Given the description of an element on the screen output the (x, y) to click on. 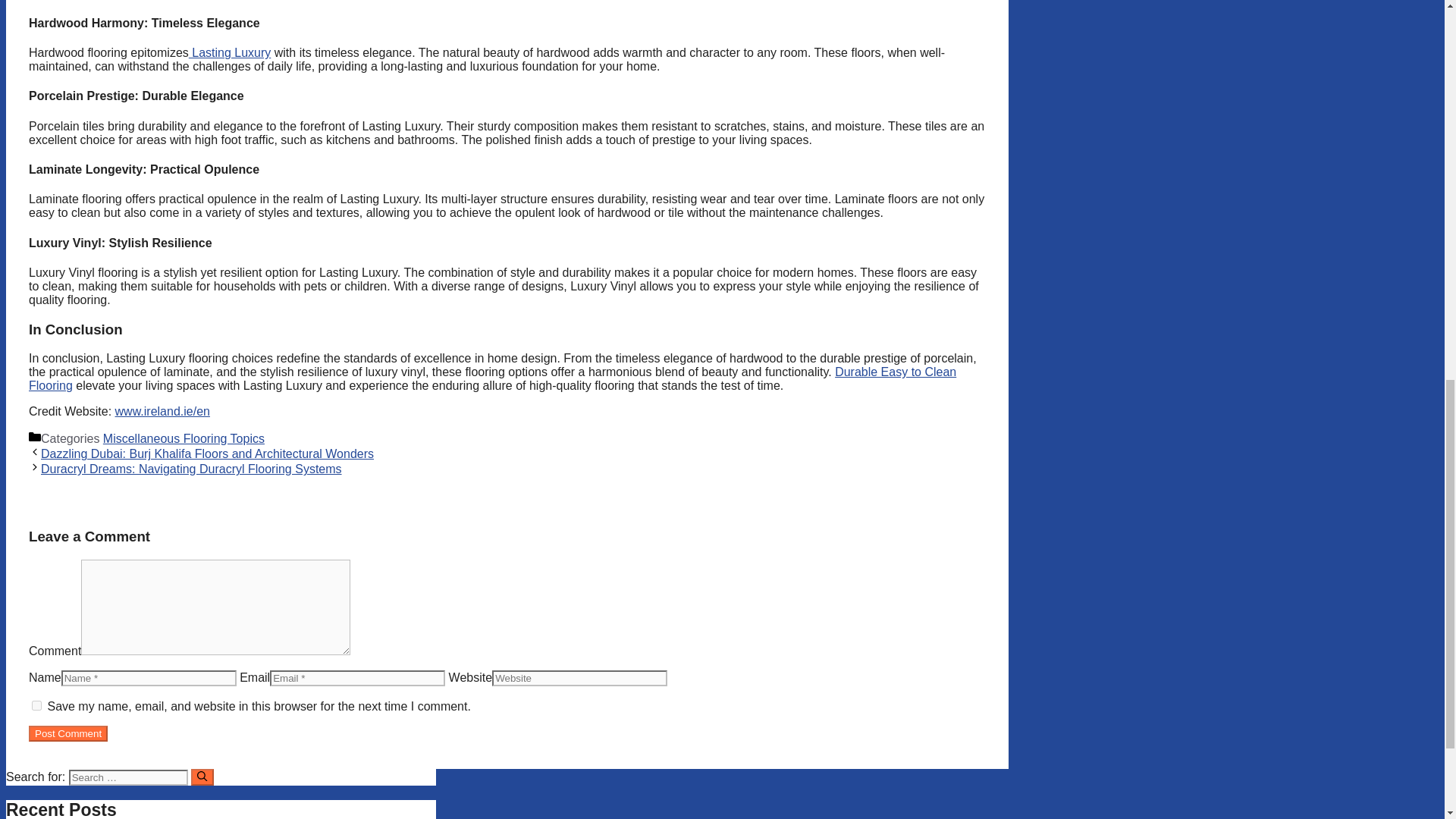
Post Comment (68, 733)
Durable Easy to Clean Flooring (492, 378)
Post Comment (68, 733)
yes (37, 705)
Miscellaneous Flooring Topics (183, 438)
Duracryl Dreams: Navigating Duracryl Flooring Systems (191, 468)
Lasting Luxury (229, 51)
Search for: (127, 777)
